Given the description of an element on the screen output the (x, y) to click on. 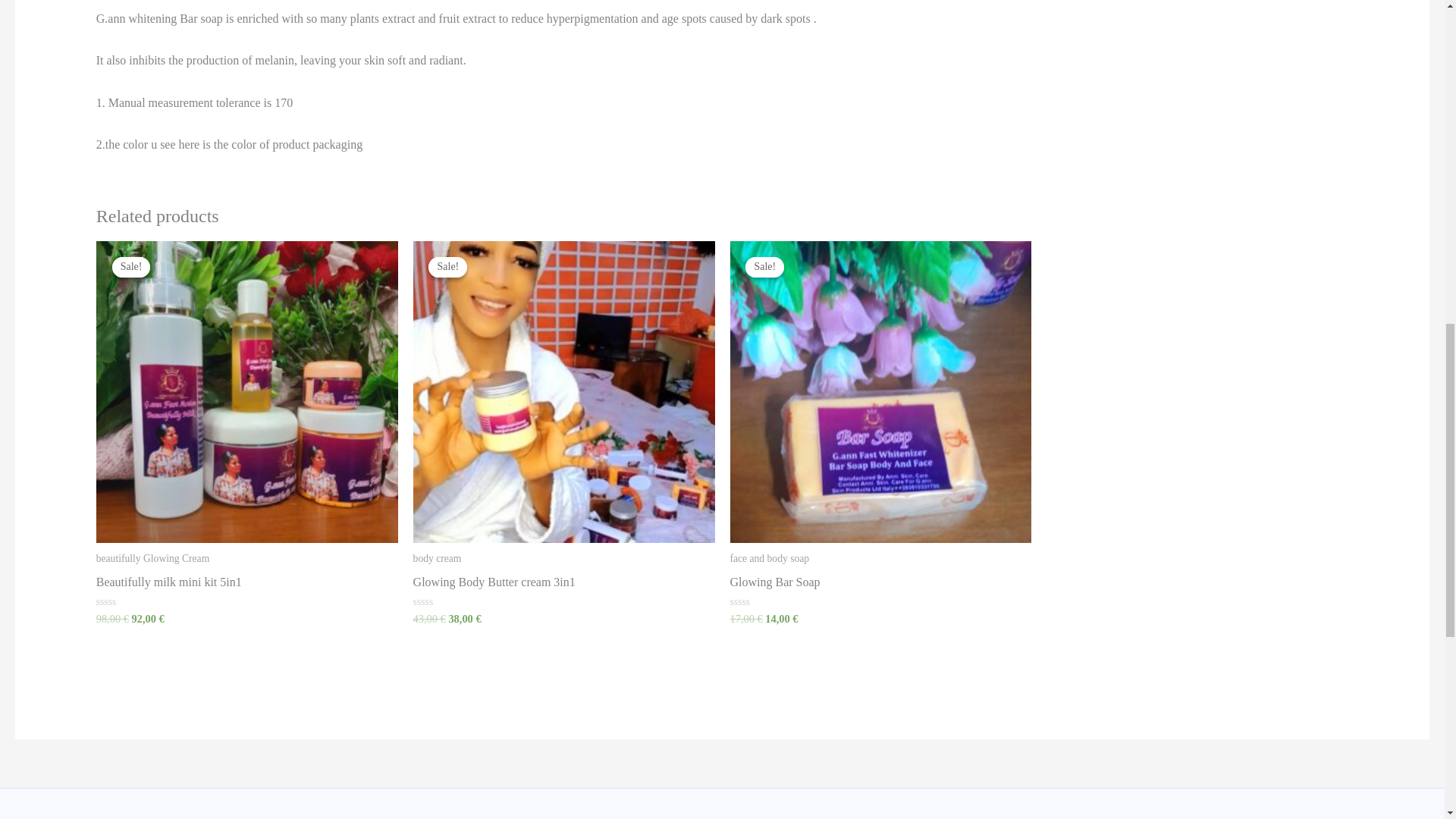
Beautifully milk mini kit 5in1 (246, 585)
